Given the description of an element on the screen output the (x, y) to click on. 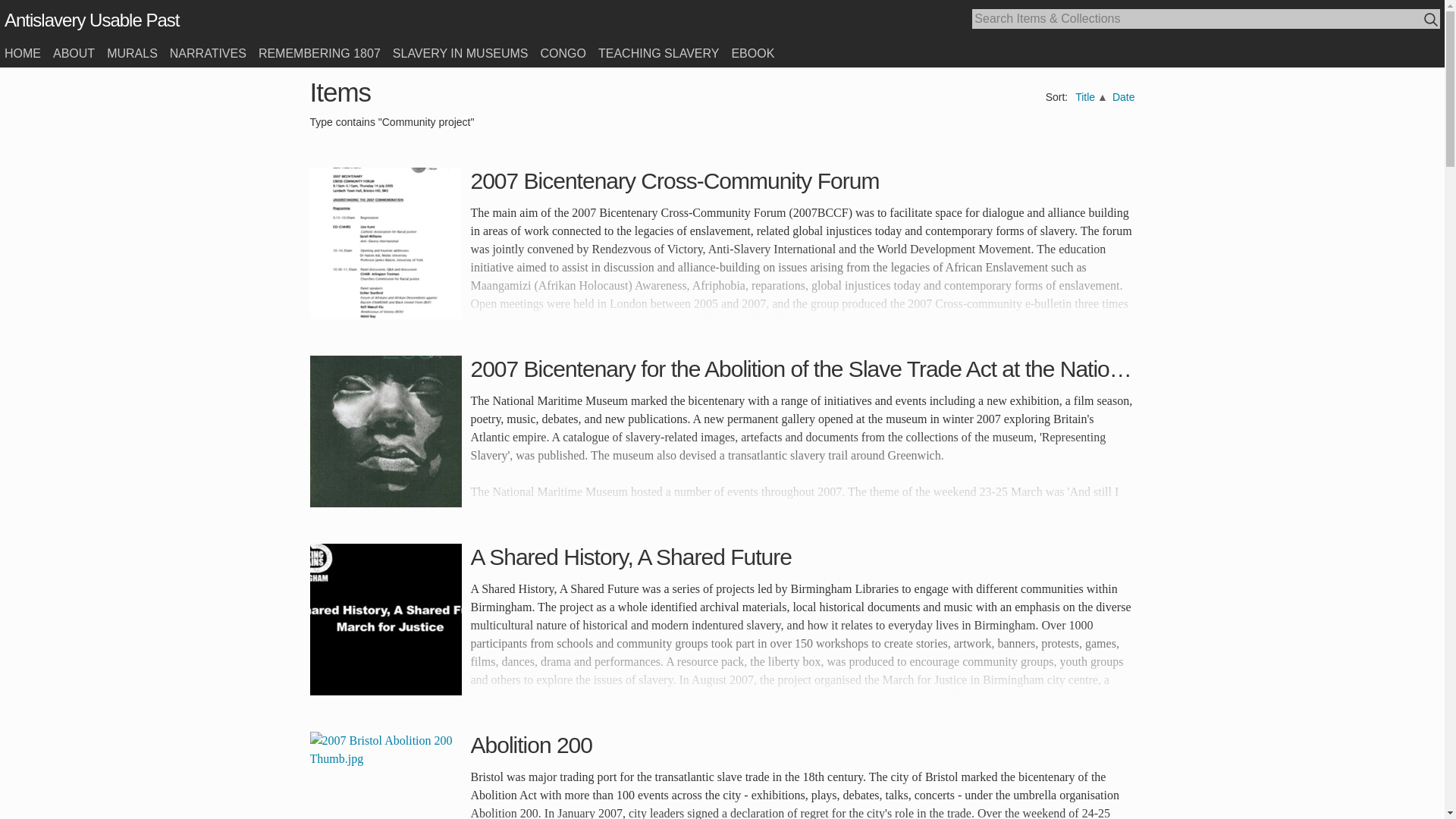
Antislavery Usable Past (91, 19)
Date (1123, 96)
CONGO (563, 52)
2007 Bristol Abolition 200 Thumb.jpg (384, 775)
2007 Birmingham Shared History.png (384, 619)
SLAVERY IN MUSEUMS (460, 52)
National Maritime Museum.pdf (384, 430)
Search (1431, 19)
HOME (22, 52)
NARRATIVES (208, 52)
MURALS (131, 52)
TEACHING SLAVERY (658, 52)
REMEMBERING 1807 (319, 52)
Search (1430, 19)
